Given the description of an element on the screen output the (x, y) to click on. 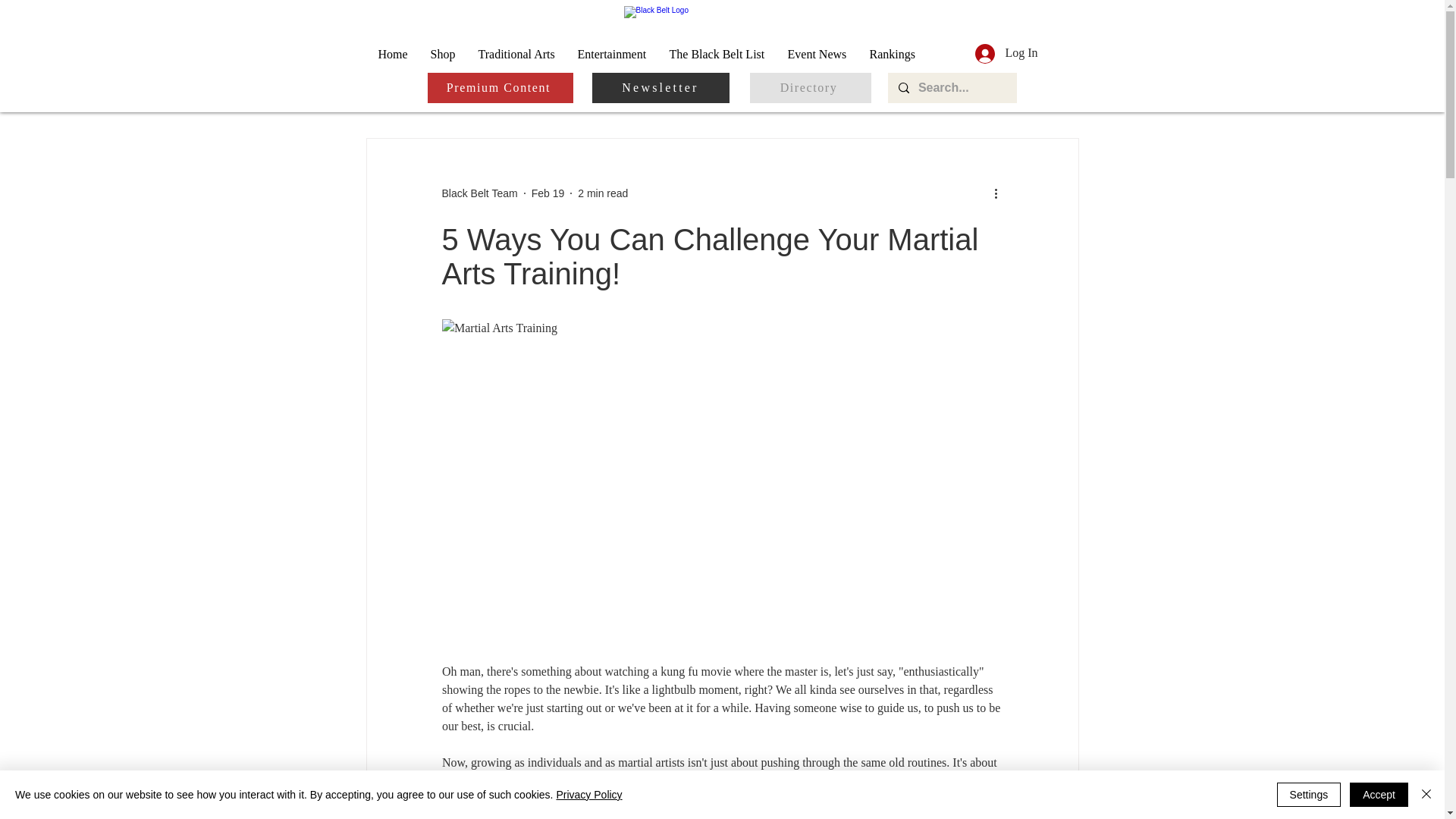
Black Belt Team (478, 192)
The Black Belt List (717, 52)
2 min read (602, 192)
Event News (817, 52)
Newsletter (660, 87)
Premium Content (500, 87)
Rankings (892, 52)
Home (392, 52)
Feb 19 (547, 192)
Directory (809, 87)
